Given the description of an element on the screen output the (x, y) to click on. 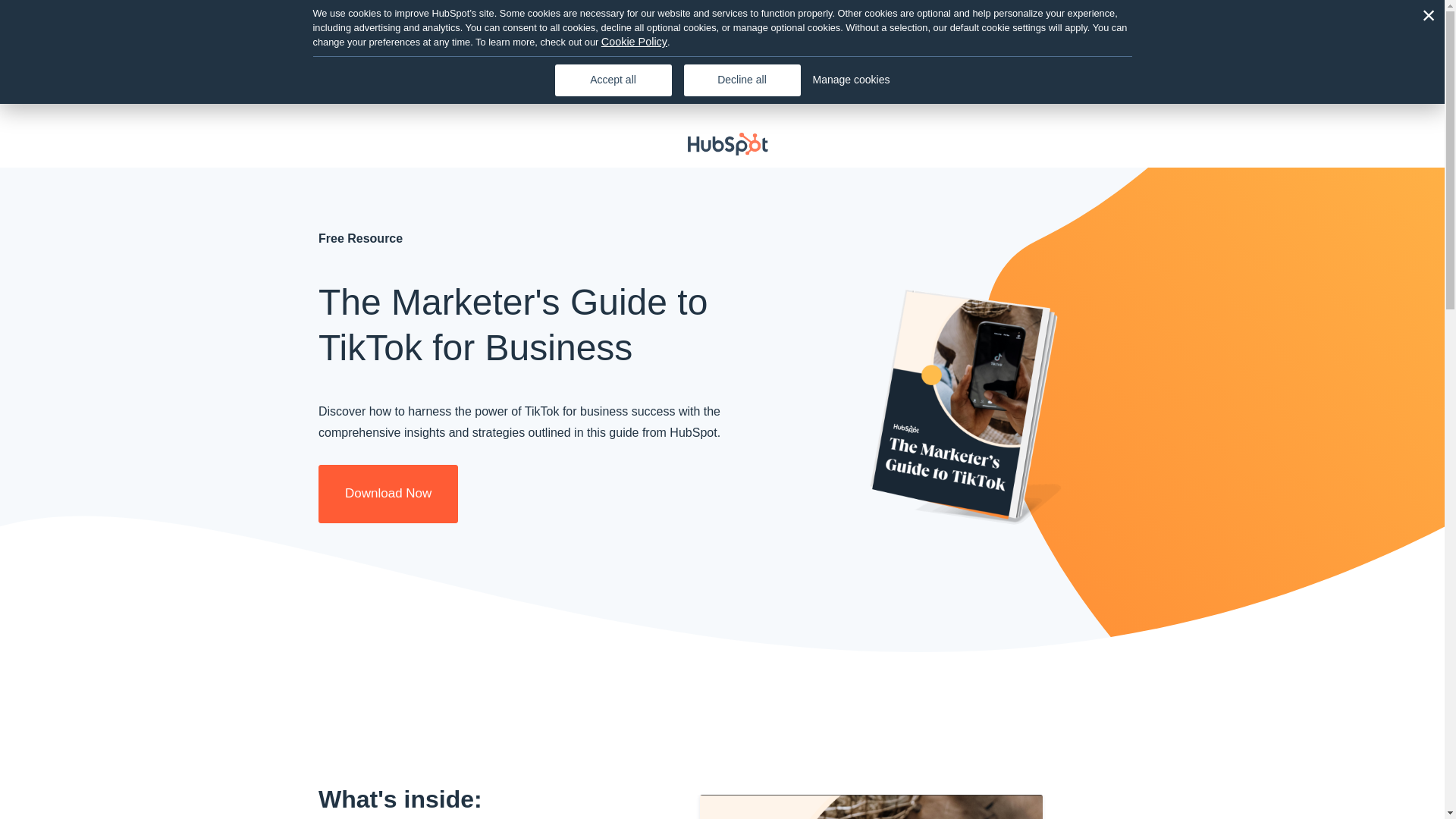
Download Now (388, 494)
